Given the description of an element on the screen output the (x, y) to click on. 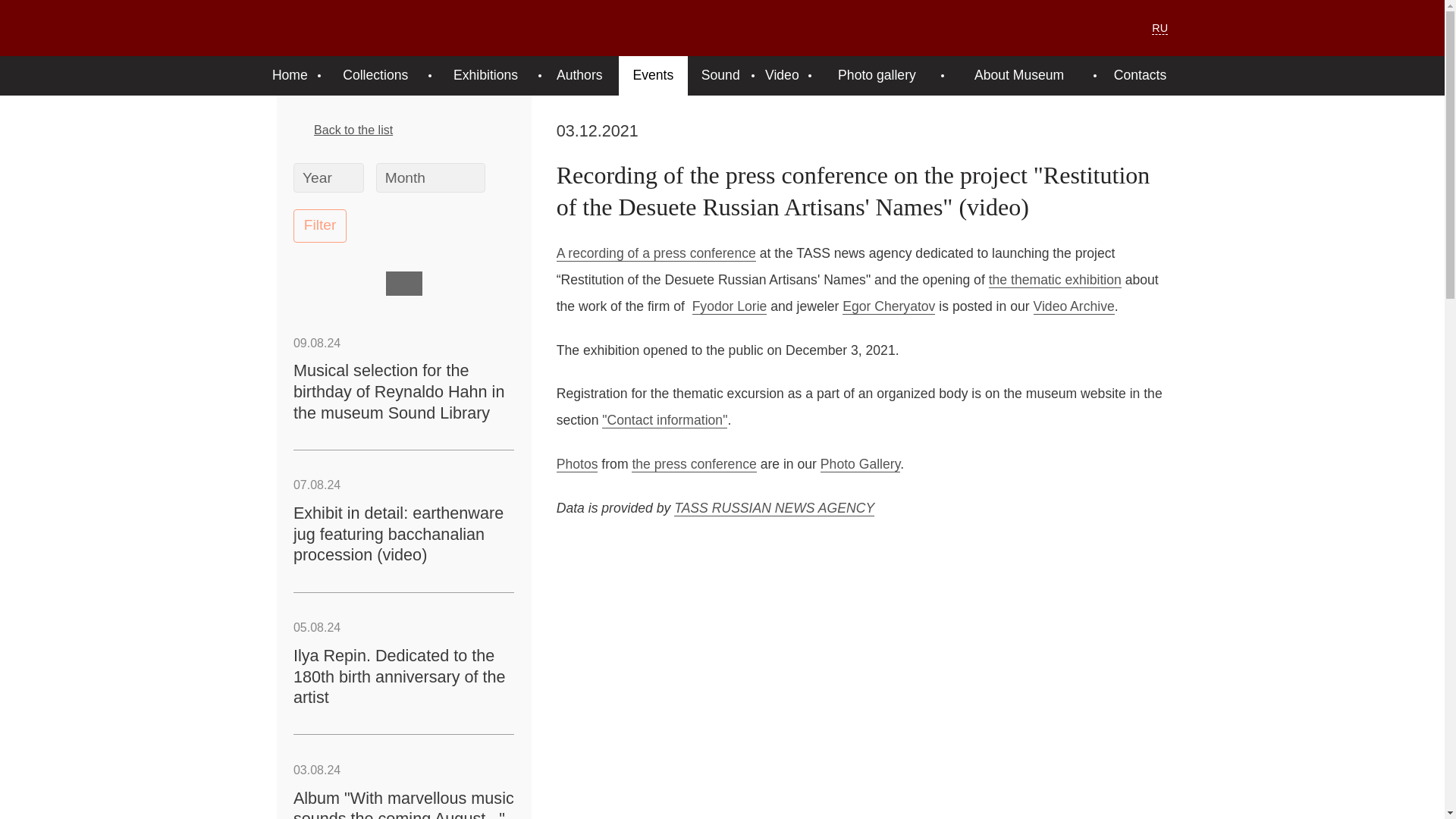
Photos (577, 464)
Home (289, 76)
A recording of a press conference (655, 253)
RU (1159, 28)
Fyodor Lorie (730, 306)
the press conference (693, 464)
Back to the list (403, 130)
Video Archive (1074, 306)
Events (652, 76)
